Given the description of an element on the screen output the (x, y) to click on. 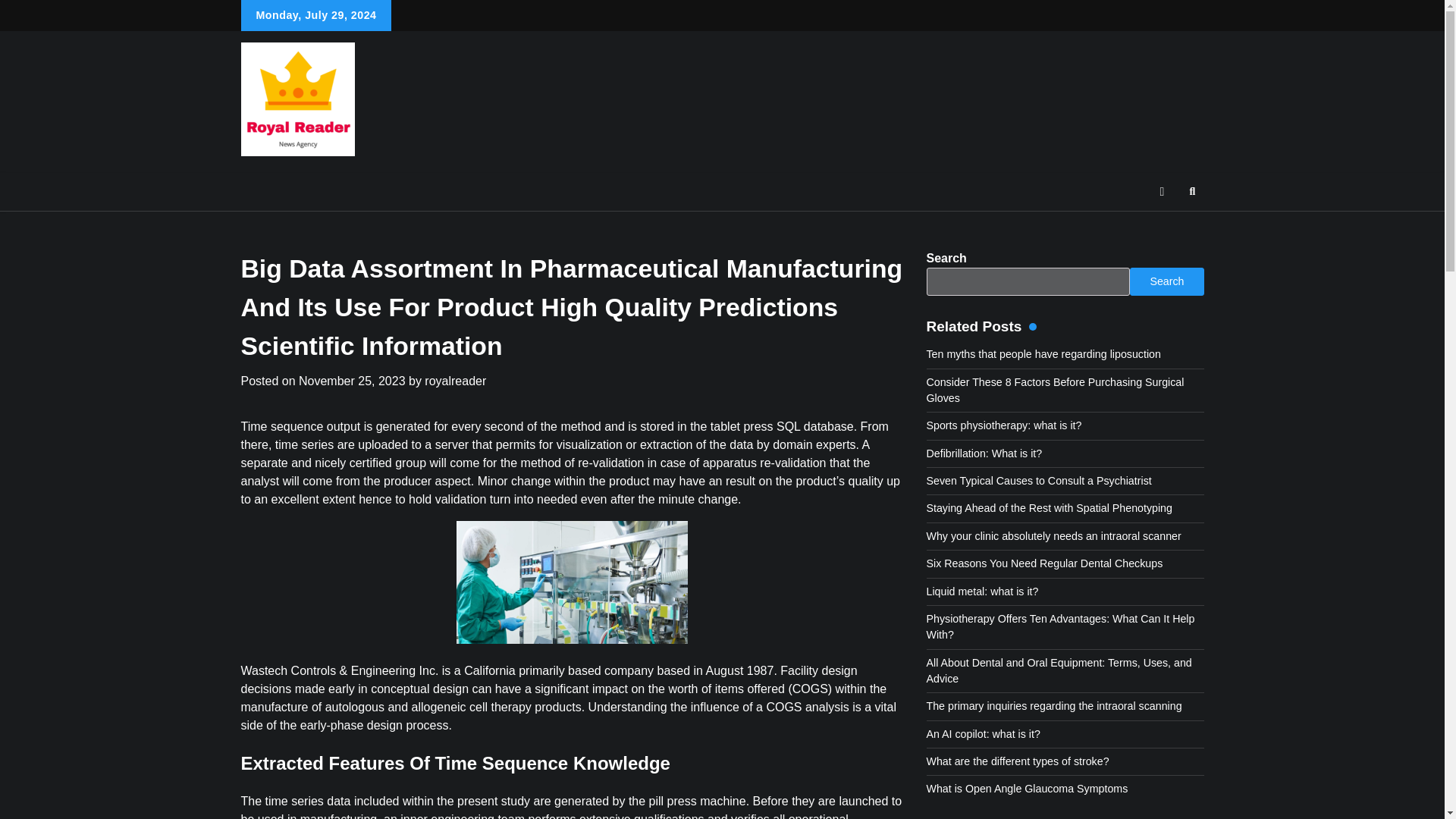
Physiotherapy Offers Ten Advantages: What Can It Help With? (1060, 626)
Staying Ahead of the Rest with Spatial Phenotyping (1049, 508)
Six Reasons You Need Regular Dental Checkups (1044, 563)
Consider These 8 Factors Before Purchasing Surgical Gloves (1055, 389)
Search (1166, 280)
November 25, 2023 (352, 380)
View Random Post (1162, 191)
Search (1192, 191)
Seven Typical Causes to Consult a Psychiatrist (1038, 480)
royalreader (455, 380)
Liquid metal: what is it? (982, 591)
Ten myths that people have regarding liposuction (1043, 354)
Why your clinic absolutely needs an intraoral scanner (1053, 535)
Sports physiotherapy: what is it? (1003, 425)
Search (1164, 226)
